Given the description of an element on the screen output the (x, y) to click on. 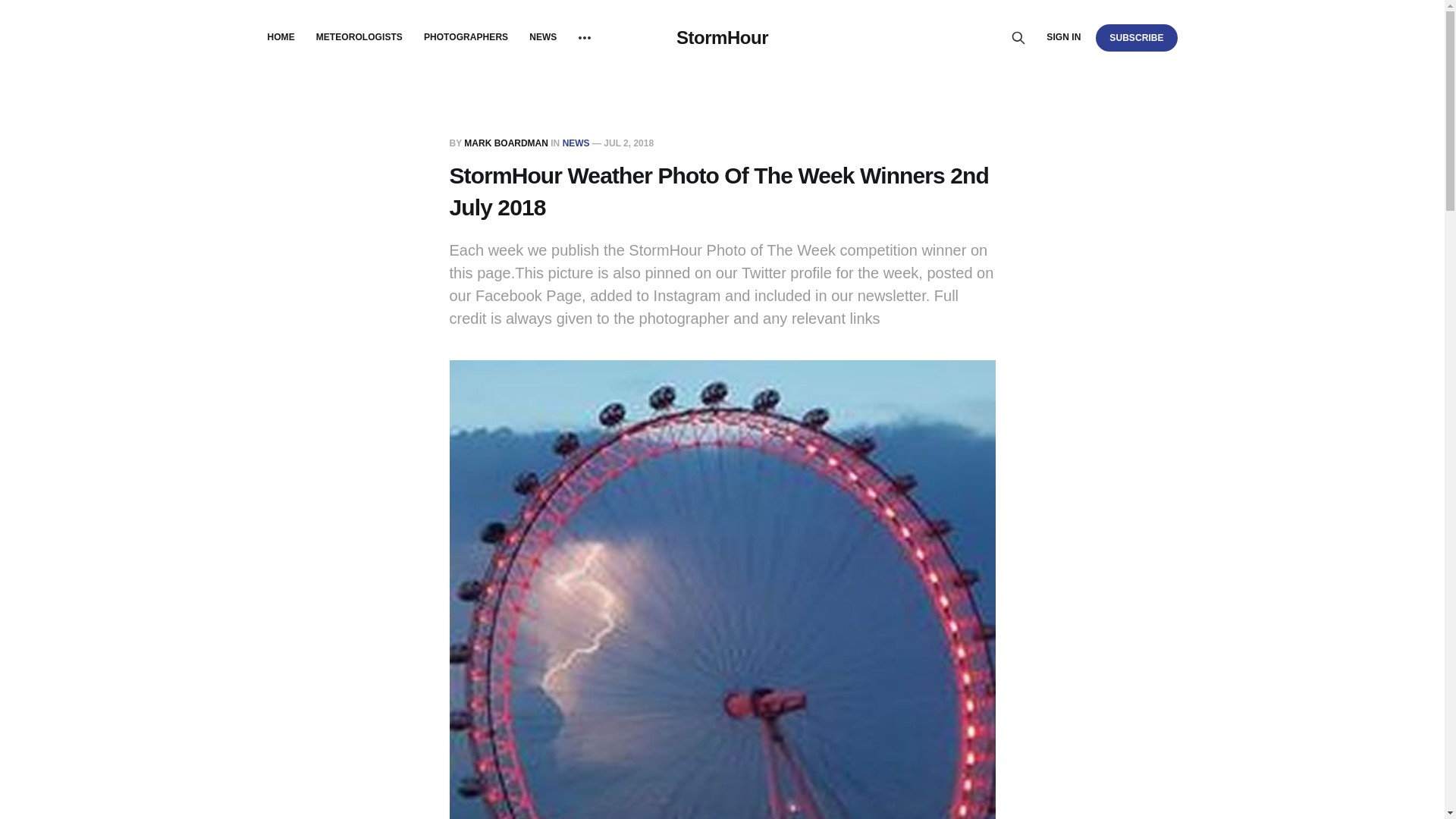
METEOROLOGISTS (359, 36)
NEWS (542, 36)
StormHour (722, 37)
SIGN IN (1063, 37)
MARK BOARDMAN (506, 143)
NEWS (575, 143)
PHOTOGRAPHERS (465, 36)
HOME (280, 36)
SUBSCRIBE (1136, 37)
